Given the description of an element on the screen output the (x, y) to click on. 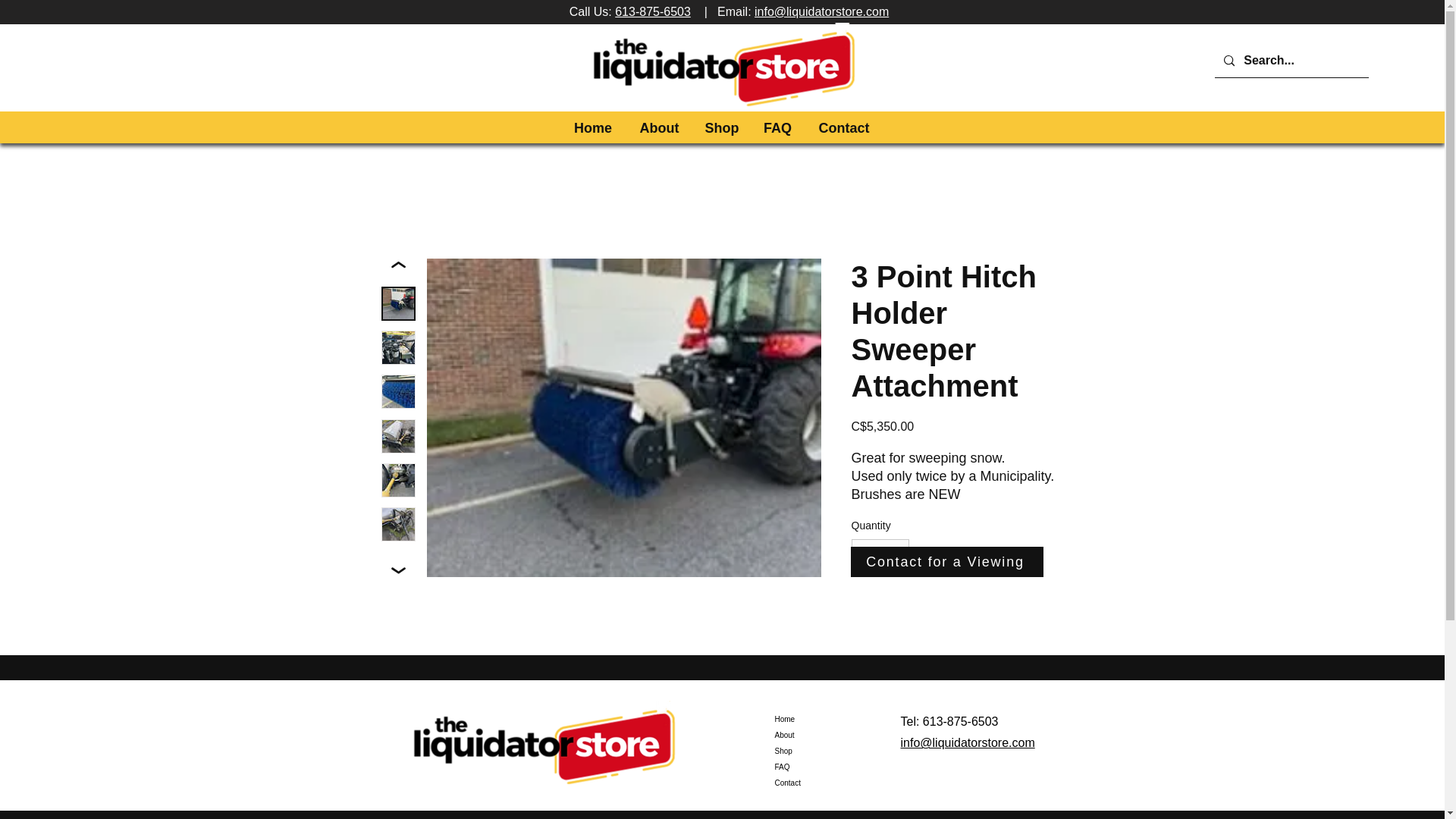
FAQ (777, 127)
1 (879, 554)
About (828, 734)
613-875-6503 (652, 11)
About (659, 127)
Home (828, 719)
Contact for a Viewing (946, 562)
Contact (828, 782)
Contact (843, 127)
Home (592, 127)
Shop (722, 127)
FAQ (828, 766)
Shop (828, 750)
